Given the description of an element on the screen output the (x, y) to click on. 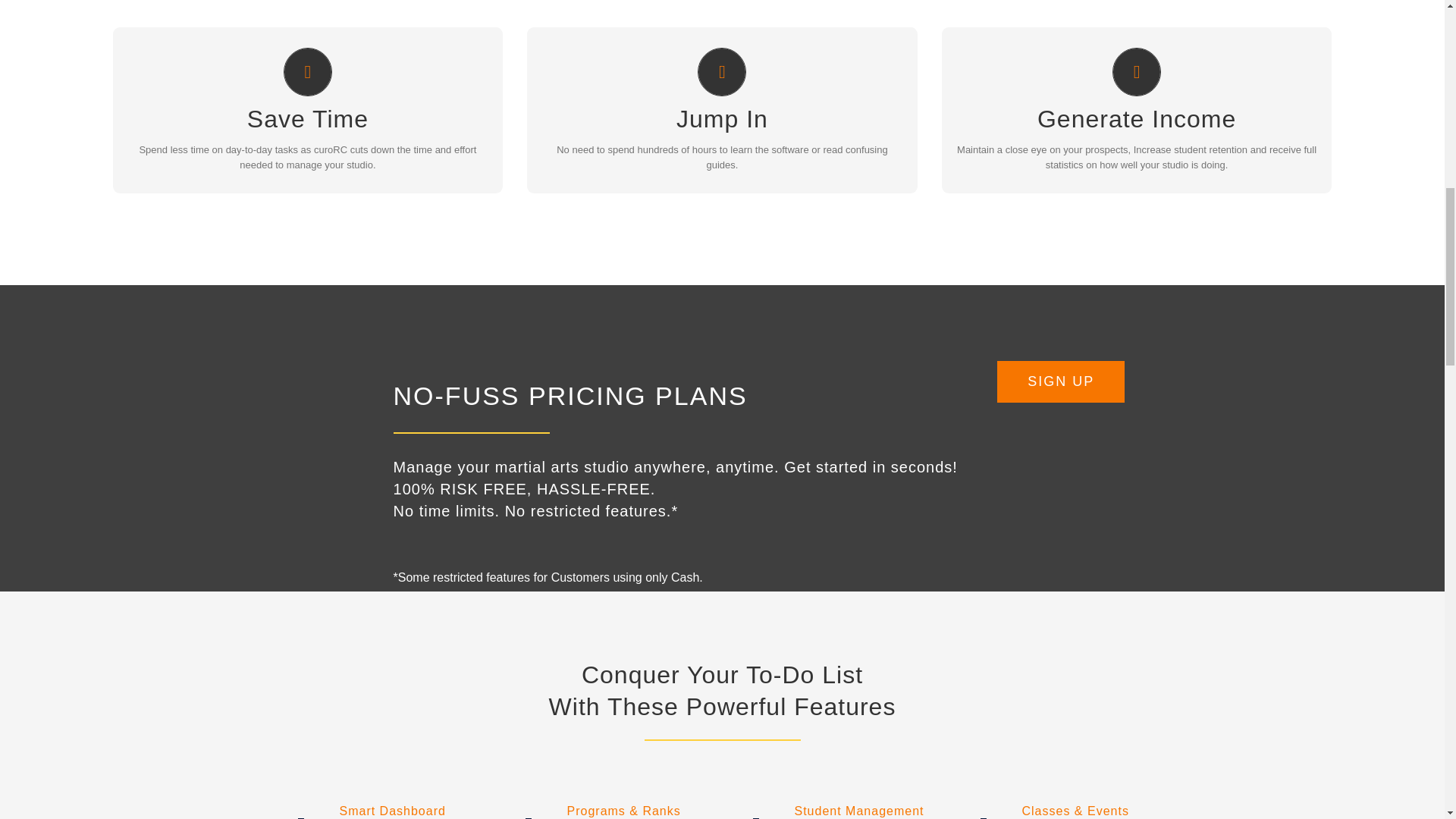
SIGN UP (1060, 381)
sign up for free (1060, 381)
Smart Dashboard (362, 811)
Student Management (828, 811)
SIGN UP (721, 137)
SIGN UP (1136, 137)
SIGN UP (307, 137)
